Given the description of an element on the screen output the (x, y) to click on. 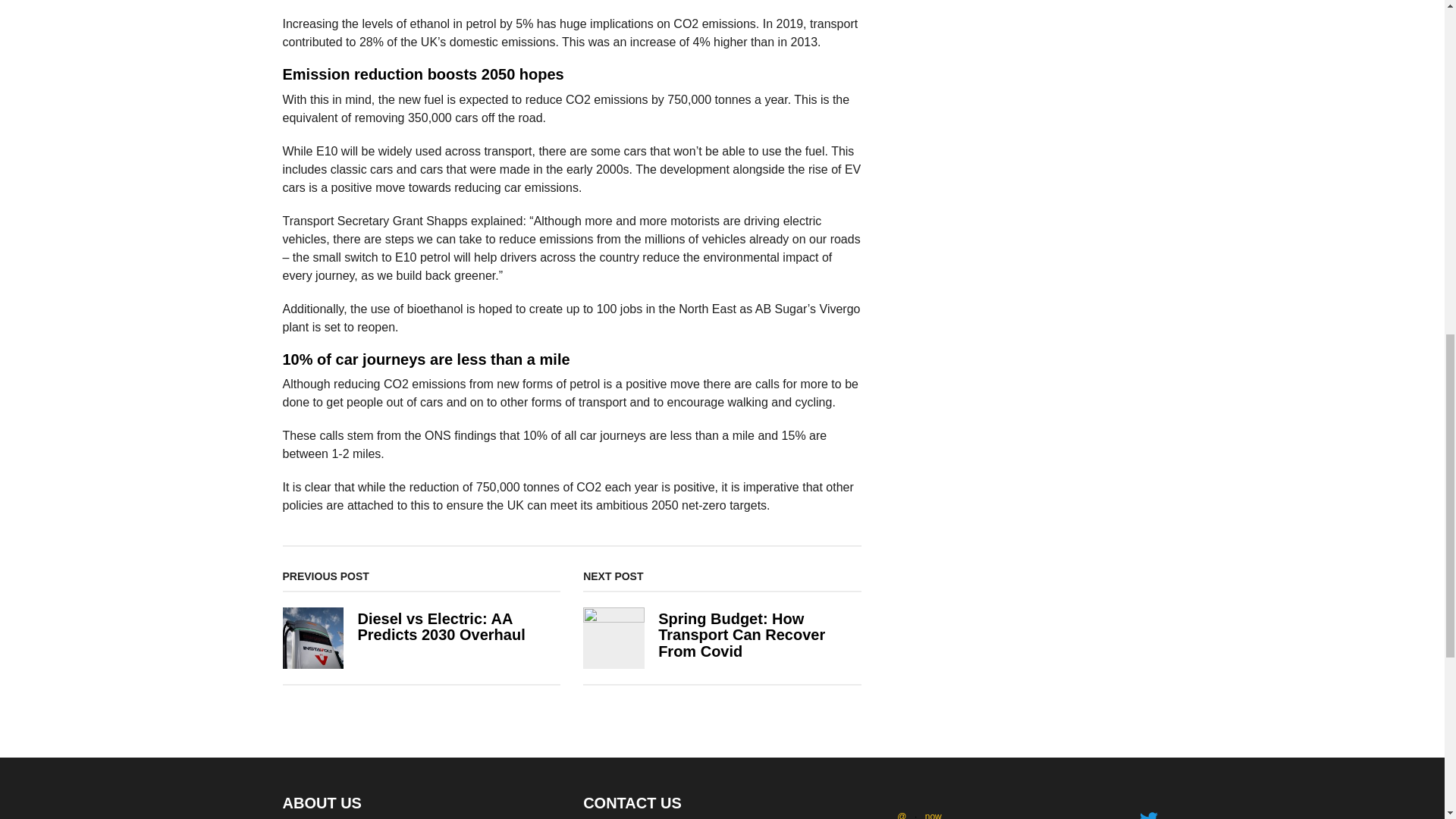
Spring Budget: How Transport Can Recover From Covid (741, 635)
Diesel vs Electric: AA Predicts 2030 Overhaul (440, 626)
